Given the description of an element on the screen output the (x, y) to click on. 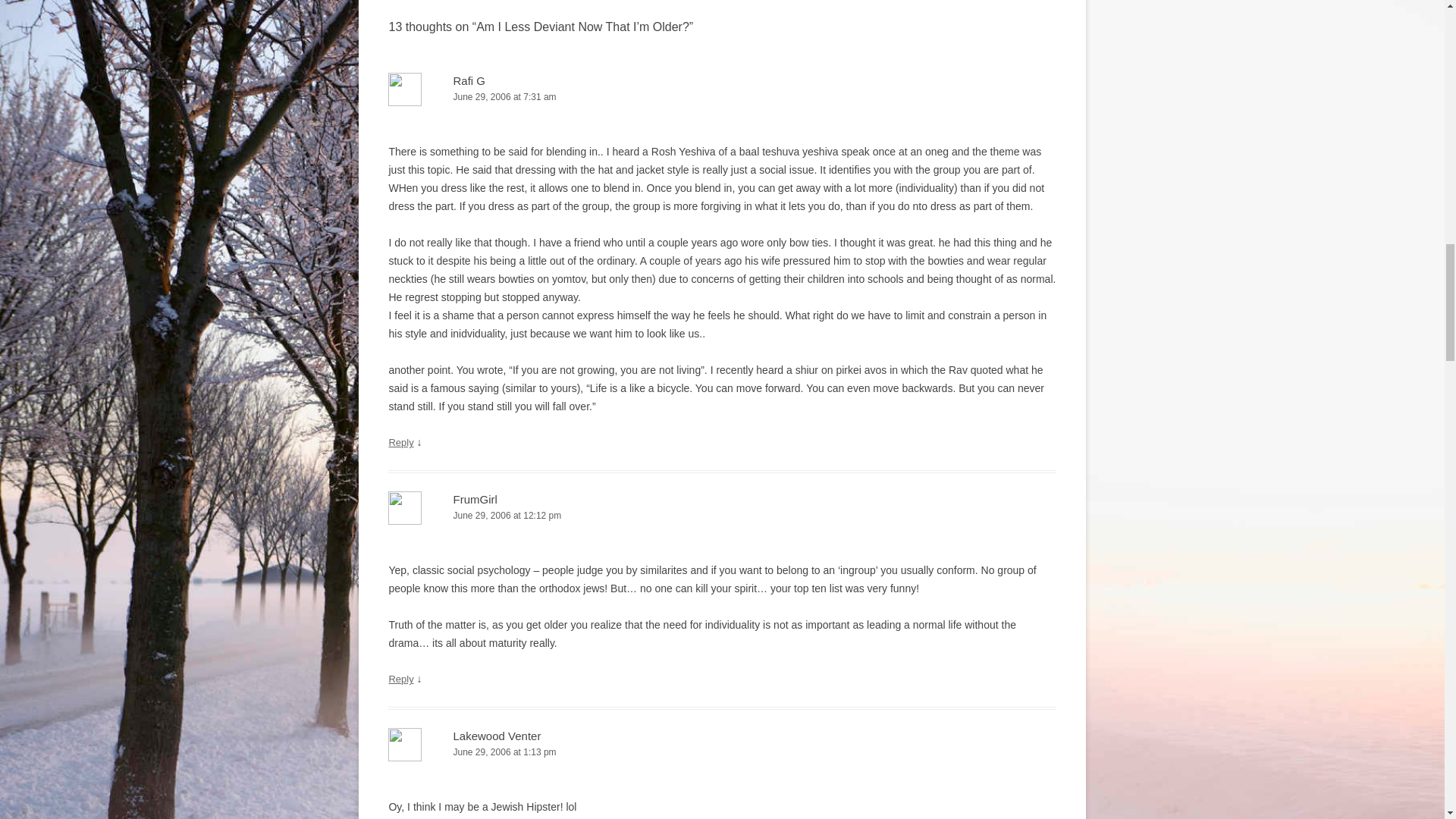
Rafi G (468, 80)
June 29, 2006 at 7:31 am (721, 97)
June 29, 2006 at 1:13 pm (721, 752)
FrumGirl (474, 499)
Reply (400, 441)
Reply (400, 678)
Lakewood Venter (496, 735)
June 29, 2006 at 12:12 pm (721, 515)
